Given the description of an element on the screen output the (x, y) to click on. 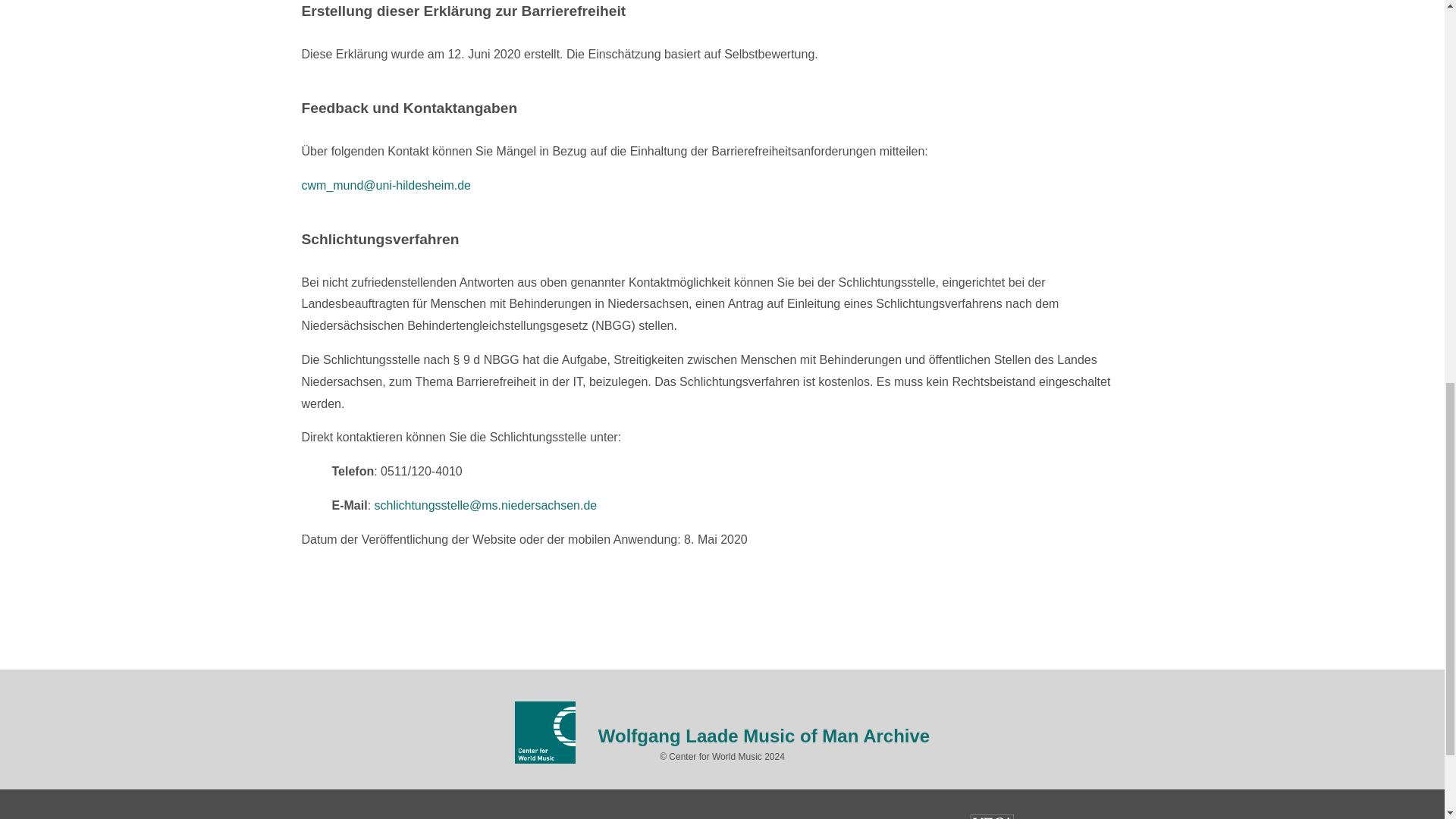
Impressum (342, 818)
Barrierefreiheit (526, 818)
Datenschutz (429, 818)
